Given the description of an element on the screen output the (x, y) to click on. 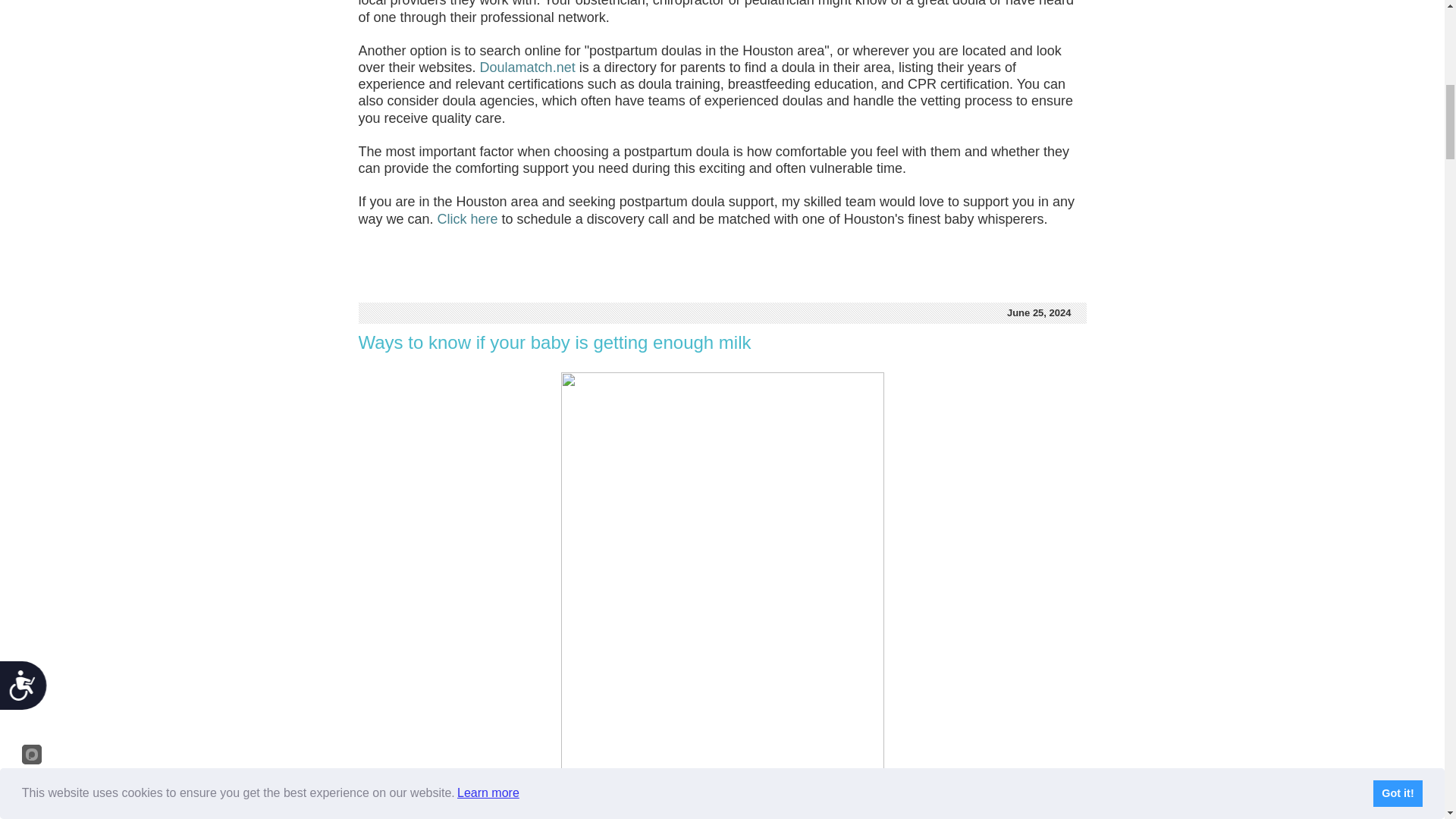
Doulamatch.net (527, 67)
Click here (470, 218)
Ways to know if your baby is getting enough milk (554, 342)
